Given the description of an element on the screen output the (x, y) to click on. 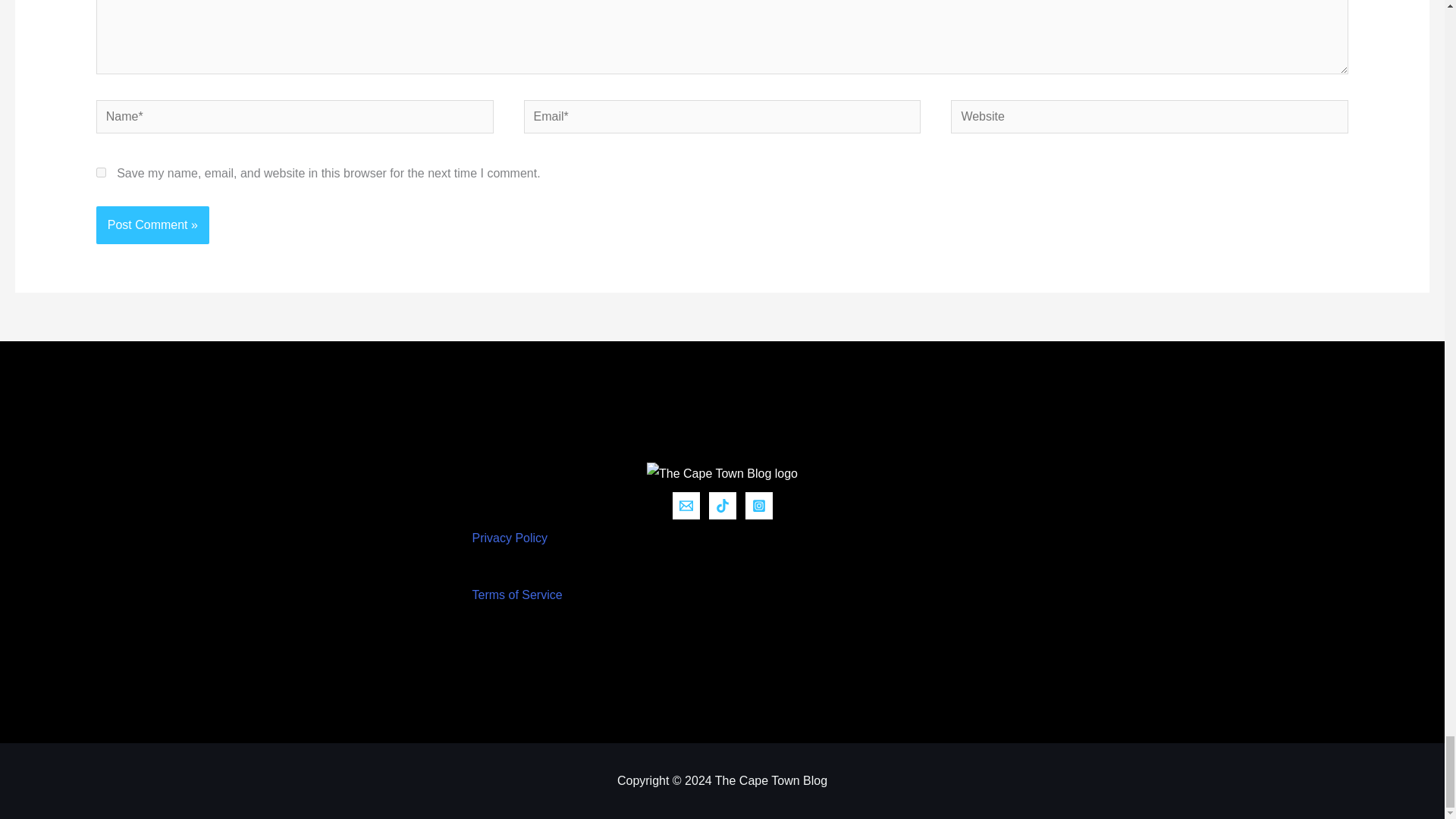
yes (101, 172)
